Given the description of an element on the screen output the (x, y) to click on. 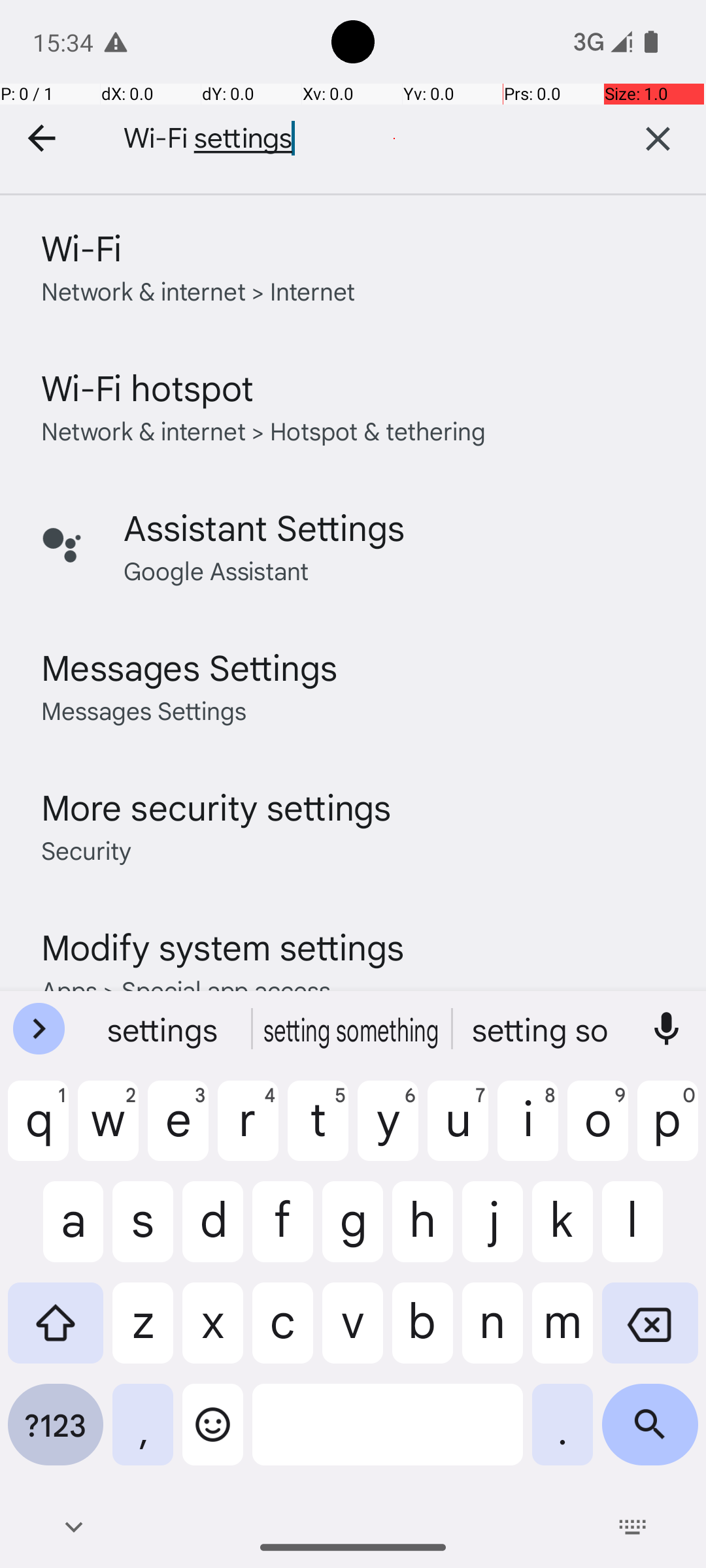
Wi-Fi settings Element type: android.widget.EditText (345, 138)
Clear text Element type: android.widget.ImageButton (657, 138)
Wi-Fi Element type: android.widget.TextView (81, 246)
Network & internet > Internet Element type: android.widget.TextView (198, 289)
Wi-Fi hotspot Element type: android.widget.TextView (147, 386)
Network & internet > Hotspot & tethering Element type: android.widget.TextView (263, 429)
Assistant Settings Element type: android.widget.TextView (263, 526)
Google Assistant Element type: android.widget.TextView (215, 569)
Messages Settings Element type: android.widget.TextView (189, 666)
More security settings Element type: android.widget.TextView (216, 806)
Security Element type: android.widget.TextView (86, 848)
Modify system settings Element type: android.widget.TextView (222, 945)
Apps > Special app access Element type: android.widget.TextView (185, 988)
settings Element type: android.widget.FrameLayout (163, 1028)
setting something Element type: android.widget.FrameLayout (352, 1028)
setting so Element type: android.widget.FrameLayout (541, 1028)
